Given the description of an element on the screen output the (x, y) to click on. 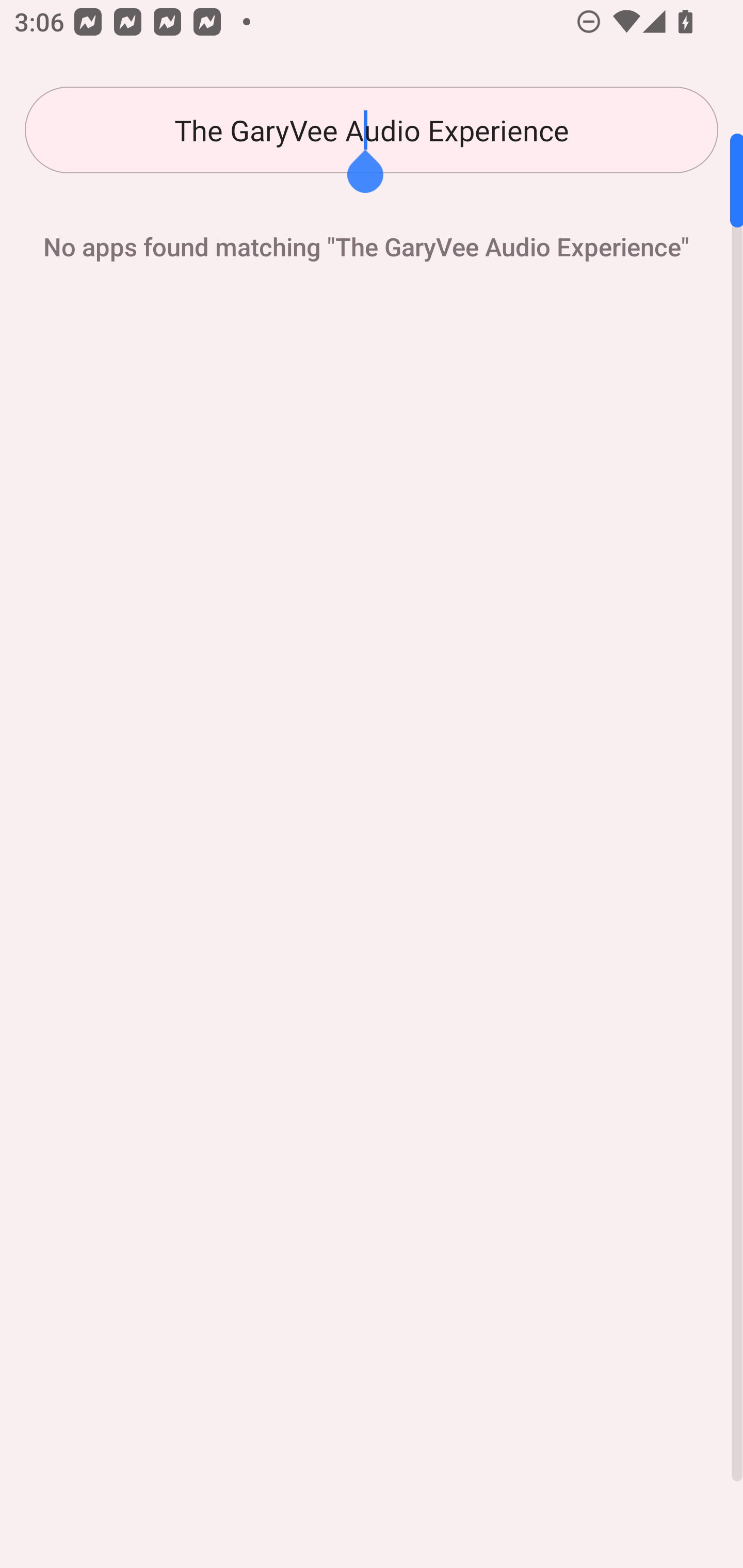
The GaryVee Audio Experience (371, 130)
